Given the description of an element on the screen output the (x, y) to click on. 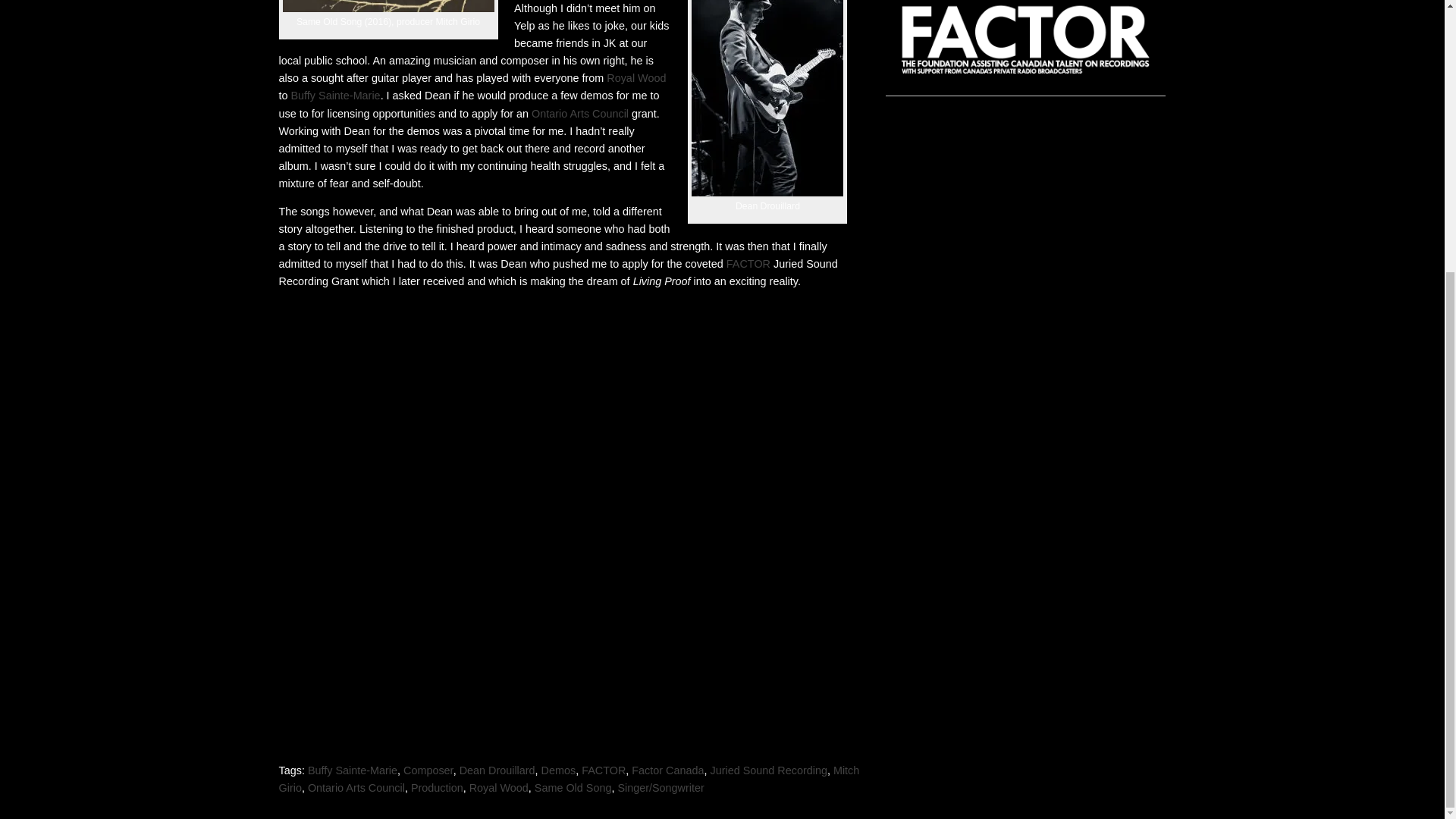
FACTOR (748, 263)
Ontario Arts Council (581, 113)
Royal Wood (636, 78)
Buffy Sainte-Marie (352, 770)
Mitch Girio (569, 778)
Buffy Sainte-Marie (335, 95)
Production (436, 787)
FACTOR (603, 770)
Ontario Arts Council (355, 787)
Dean Drouillard (497, 770)
